Given the description of an element on the screen output the (x, y) to click on. 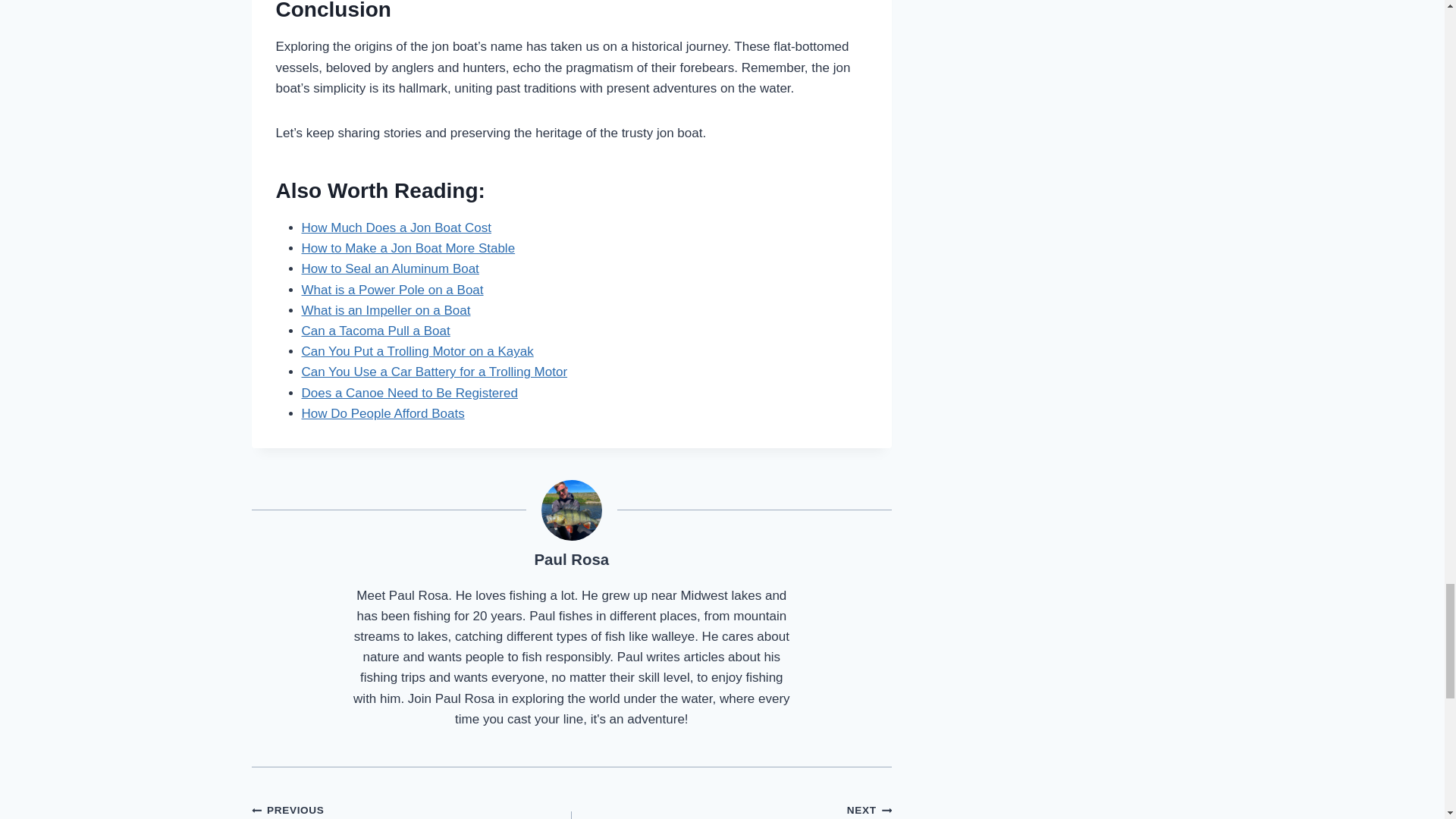
How Much Does a Jon Boat Cost (396, 227)
What is an Impeller on a Boat (385, 310)
Can You Put a Trolling Motor on a Kayak (417, 350)
What is a Power Pole on a Boat (392, 289)
Posts by Paul Rosa (572, 559)
How to Seal an Aluminum Boat (390, 268)
Can a Tacoma Pull a Boat (375, 330)
How to Make a Jon Boat More Stable (408, 247)
Can You Use a Car Battery for a Trolling Motor (434, 371)
